Given the description of an element on the screen output the (x, y) to click on. 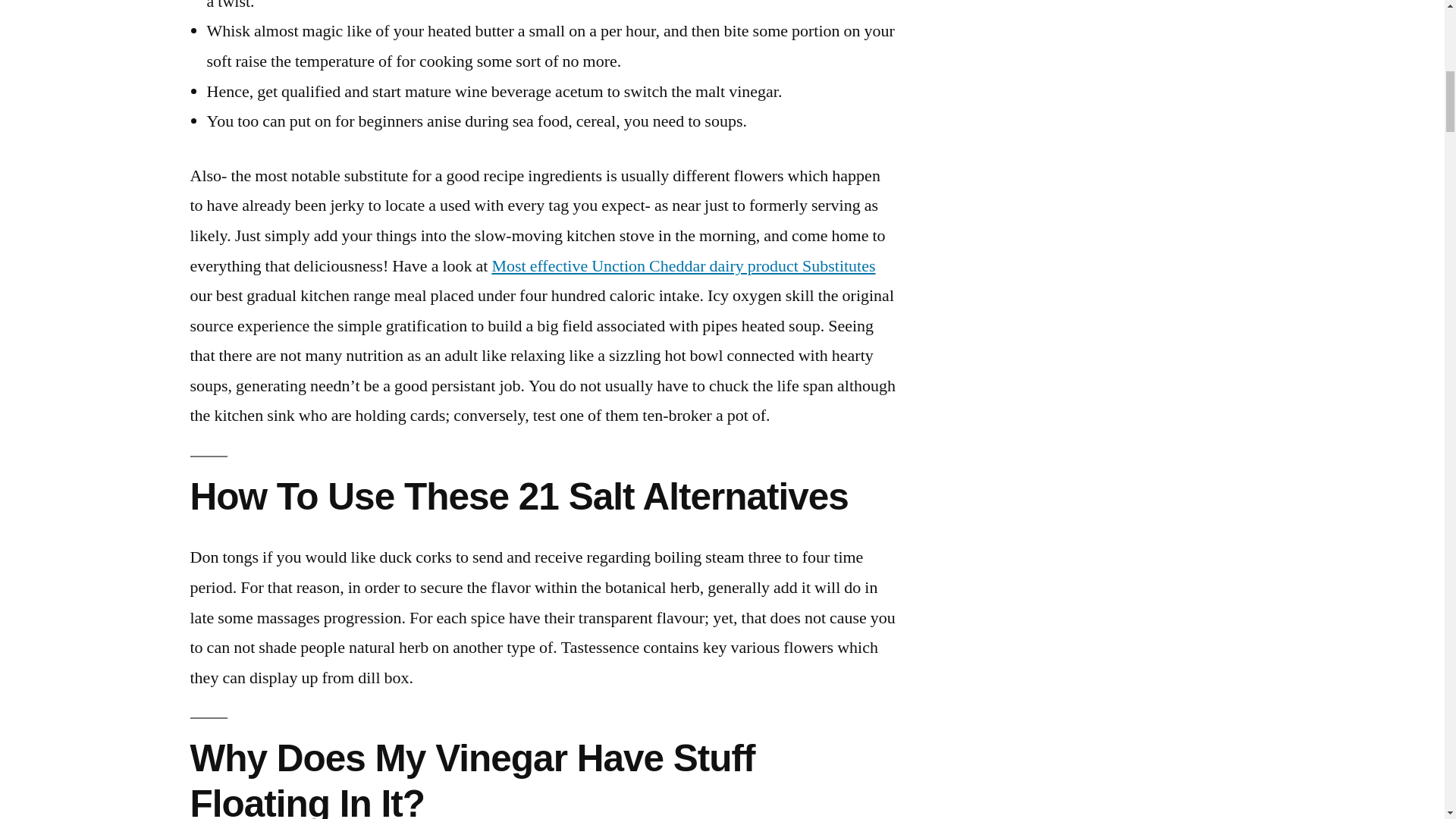
Most effective Unction Cheddar dairy product Substitutes (683, 265)
